Given the description of an element on the screen output the (x, y) to click on. 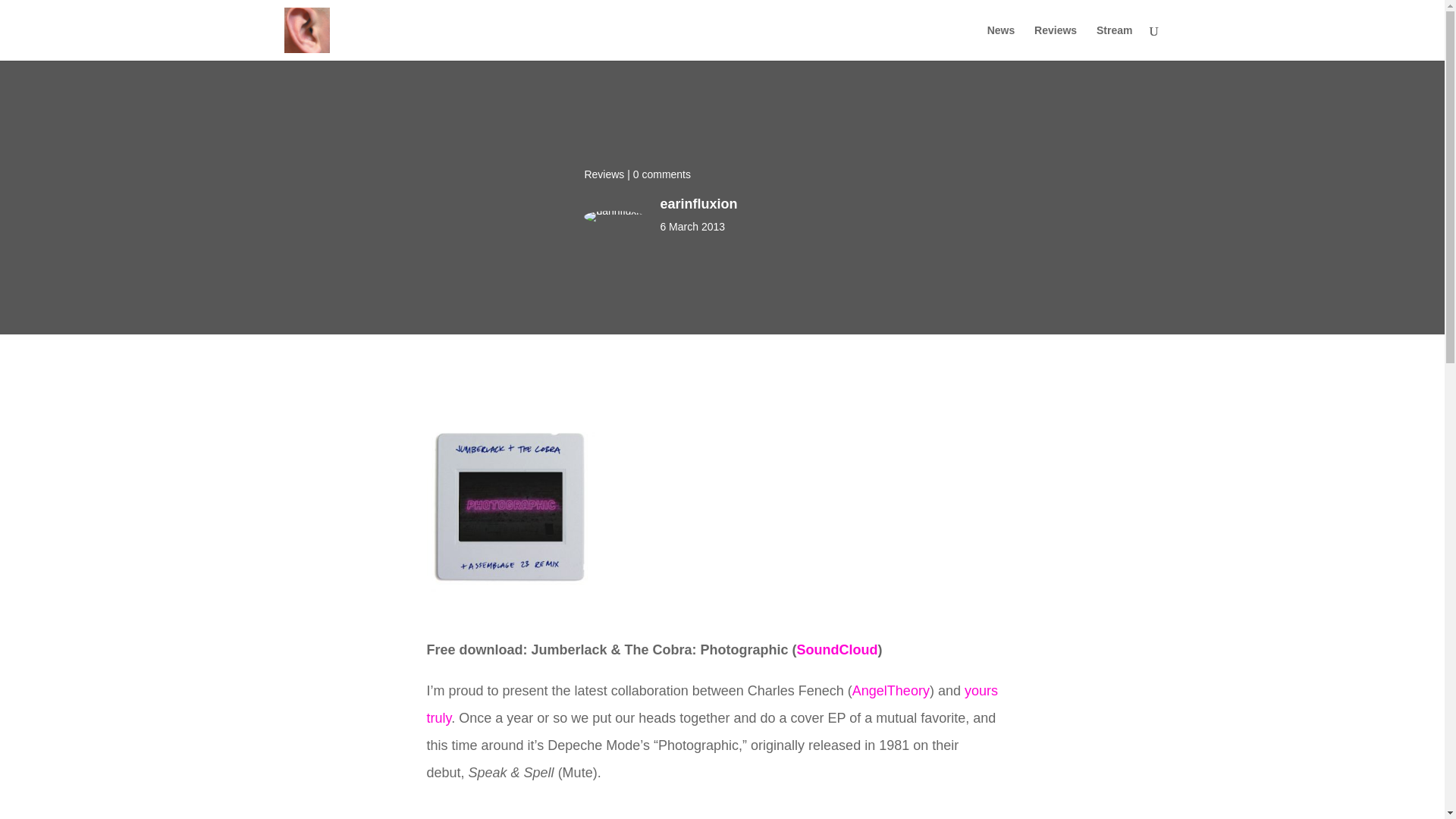
yours truly (711, 704)
0 comments (661, 174)
AngelTheory (890, 690)
Stream (1114, 42)
Reviews (1055, 42)
Reviews (603, 174)
SoundCloud (836, 649)
